Given the description of an element on the screen output the (x, y) to click on. 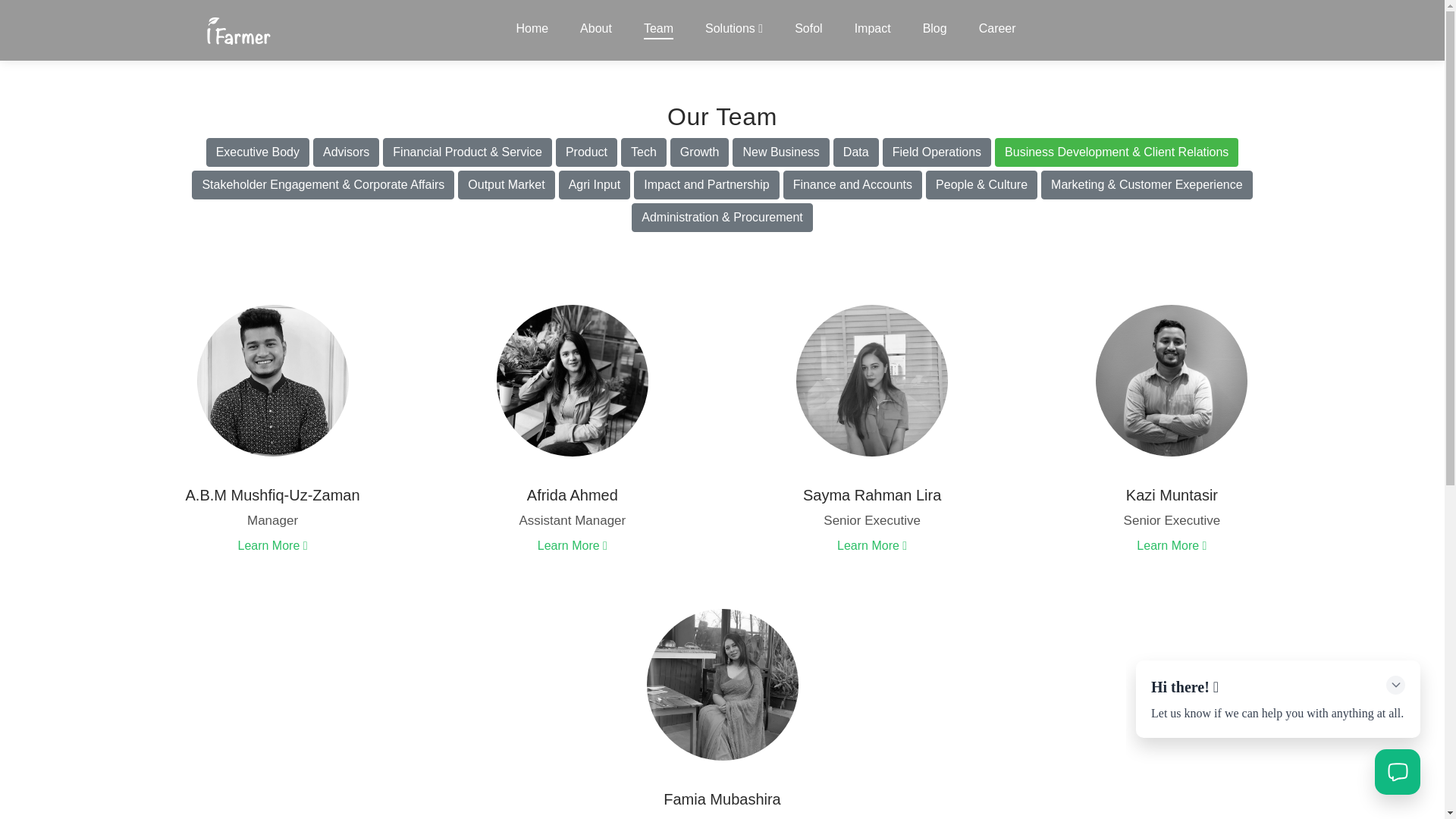
Team (658, 30)
Data (855, 152)
About (595, 27)
Solutions (733, 27)
Product (586, 152)
Blog (935, 27)
Tech (643, 152)
Field Operations (936, 152)
Output Market (506, 184)
Home (531, 27)
Executive Body (257, 152)
Growth (699, 152)
Career (994, 27)
Advisors (345, 152)
Sofol (808, 27)
